Given the description of an element on the screen output the (x, y) to click on. 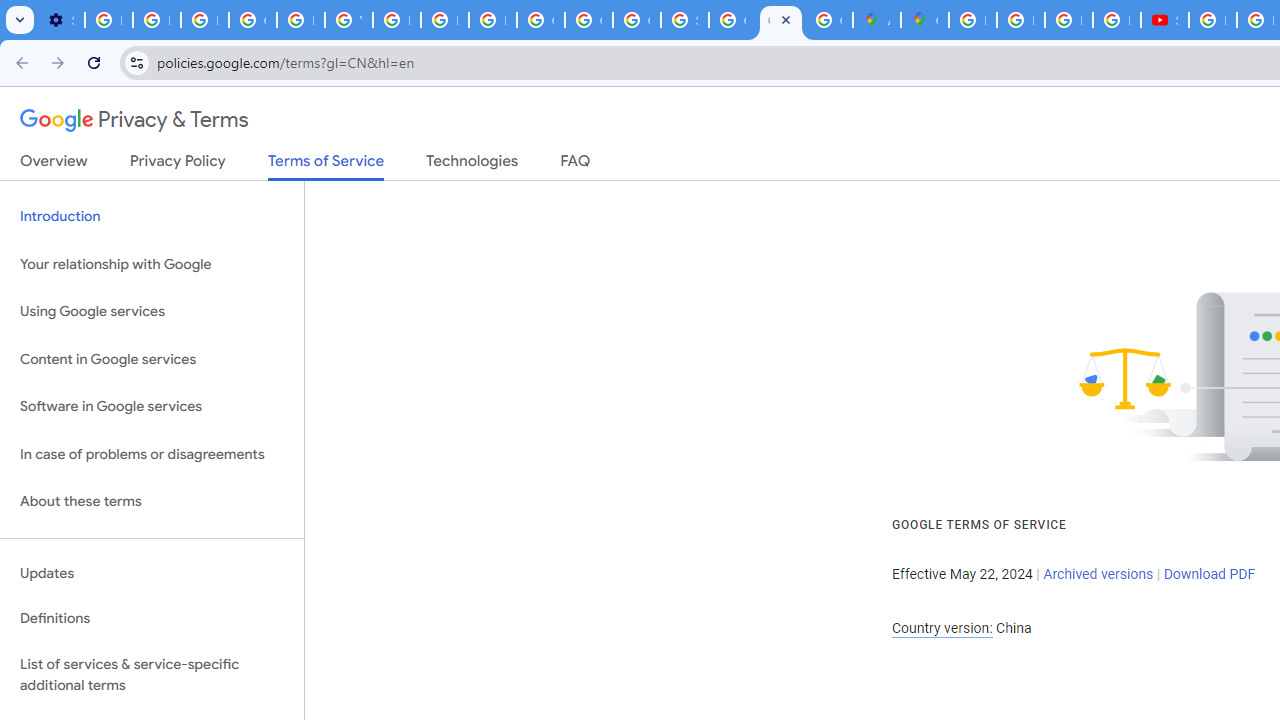
Privacy Help Center - Policies Help (444, 20)
Your relationship with Google (152, 263)
